Given the description of an element on the screen output the (x, y) to click on. 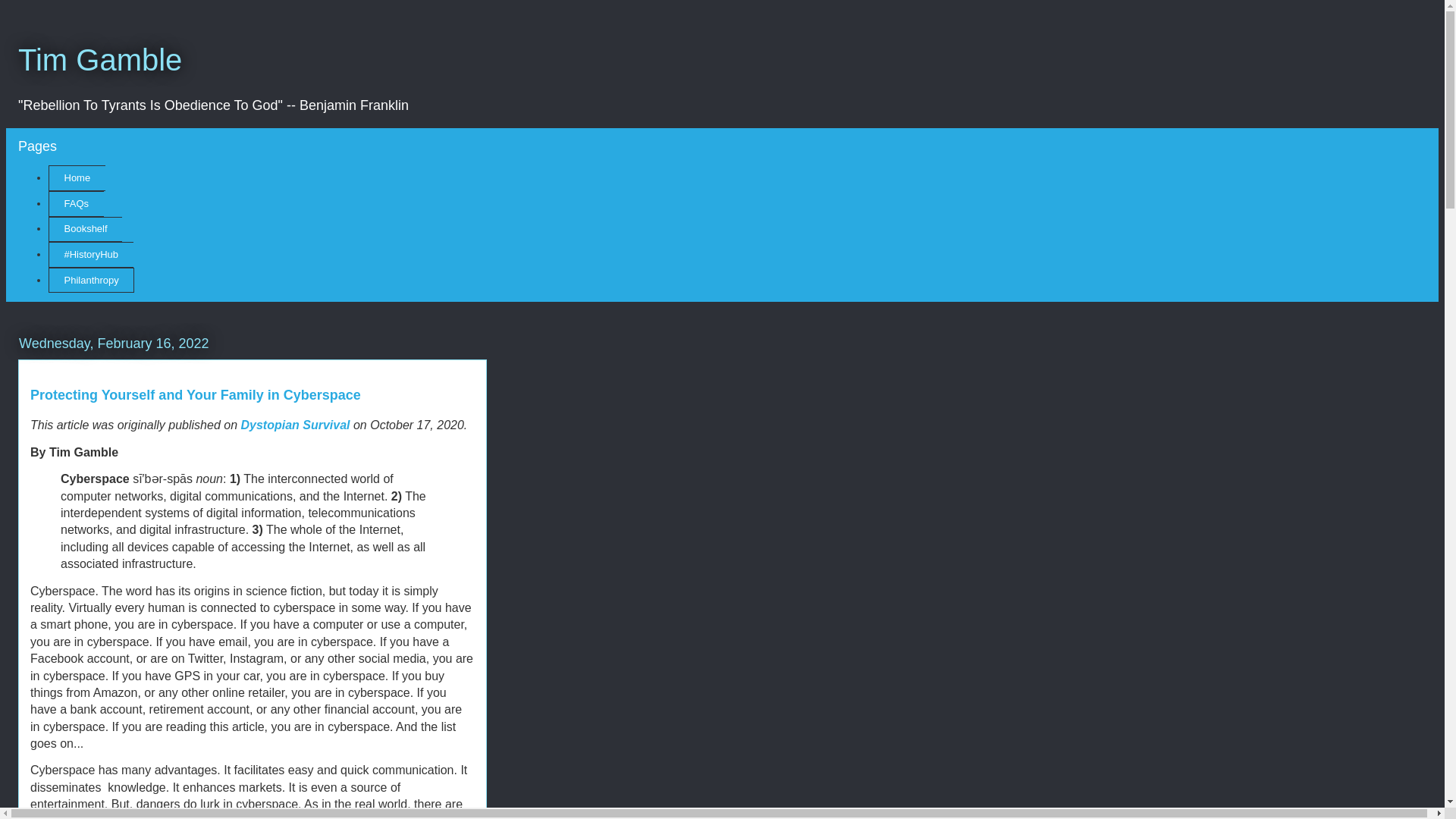
Home (76, 177)
Philanthropy (90, 280)
Tim Gamble (99, 59)
FAQs (75, 203)
Dystopian Survival (294, 424)
Bookshelf (85, 229)
